Given the description of an element on the screen output the (x, y) to click on. 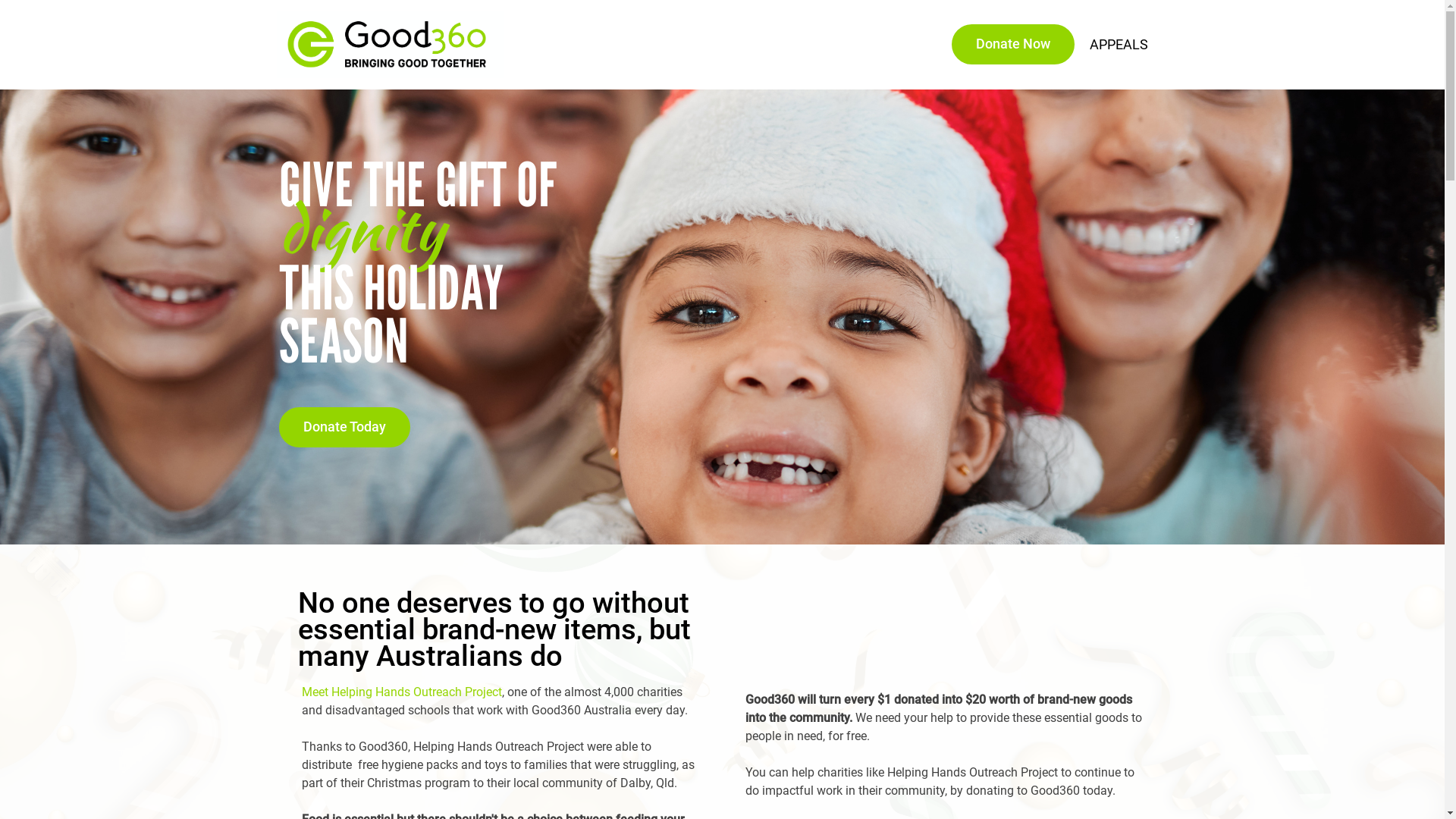
APPEALS Element type: text (1118, 44)
Meet Helping Hands Outreach Project Element type: text (401, 691)
Donate Today Element type: text (344, 427)
Donate Now Element type: text (1011, 44)
